Given the description of an element on the screen output the (x, y) to click on. 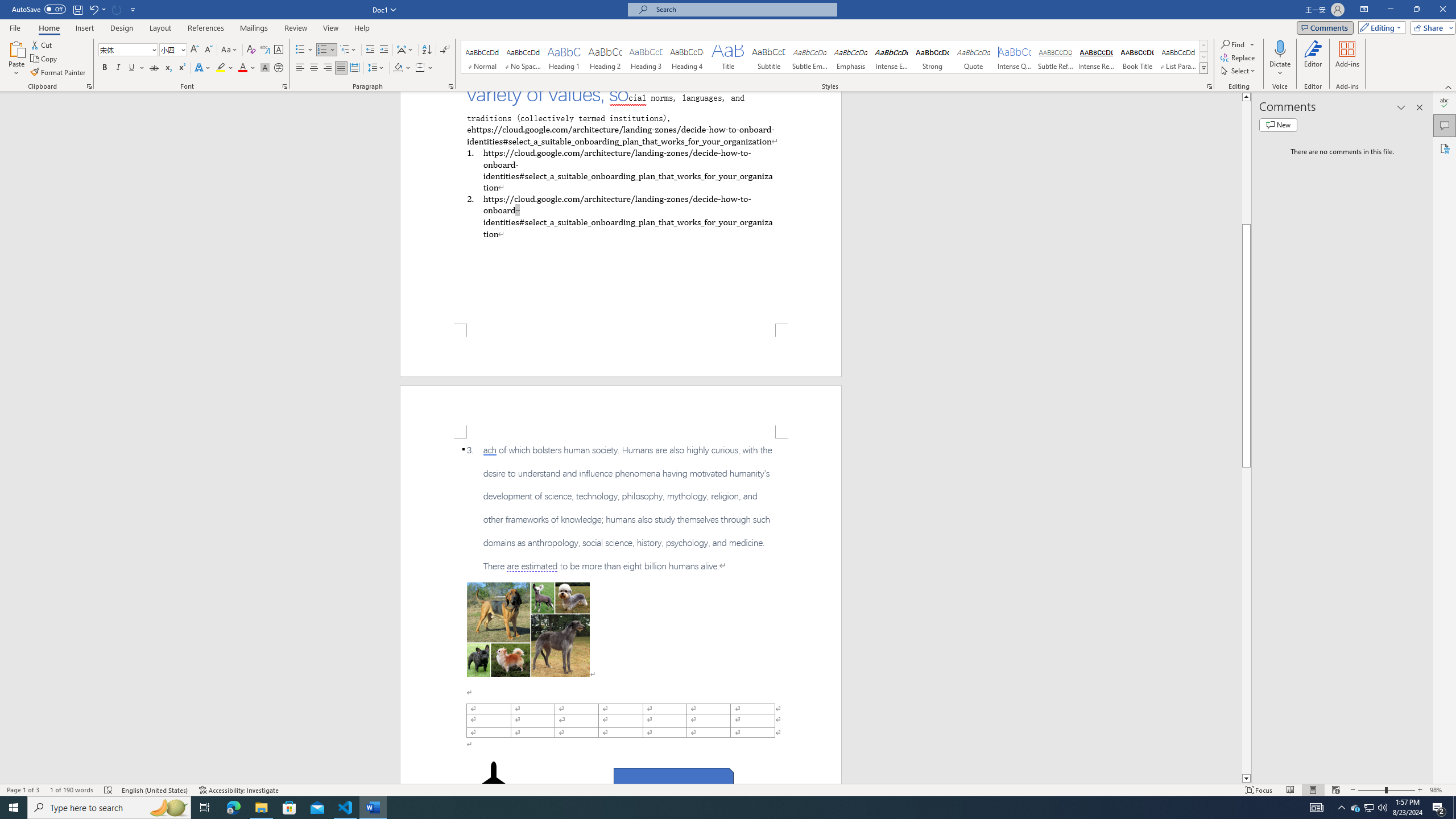
Shading (402, 67)
Book Title (1136, 56)
Multilevel List (347, 49)
Header -Section 1- (620, 411)
Format Painter (58, 72)
Decrease Indent (370, 49)
New comment (1278, 124)
Font... (285, 85)
Class: NetUIScrollBar (1245, 437)
Justify (340, 67)
Spelling and Grammar Check Errors (108, 790)
Language English (United States) (154, 790)
Subtle Reference (1055, 56)
